Given the description of an element on the screen output the (x, y) to click on. 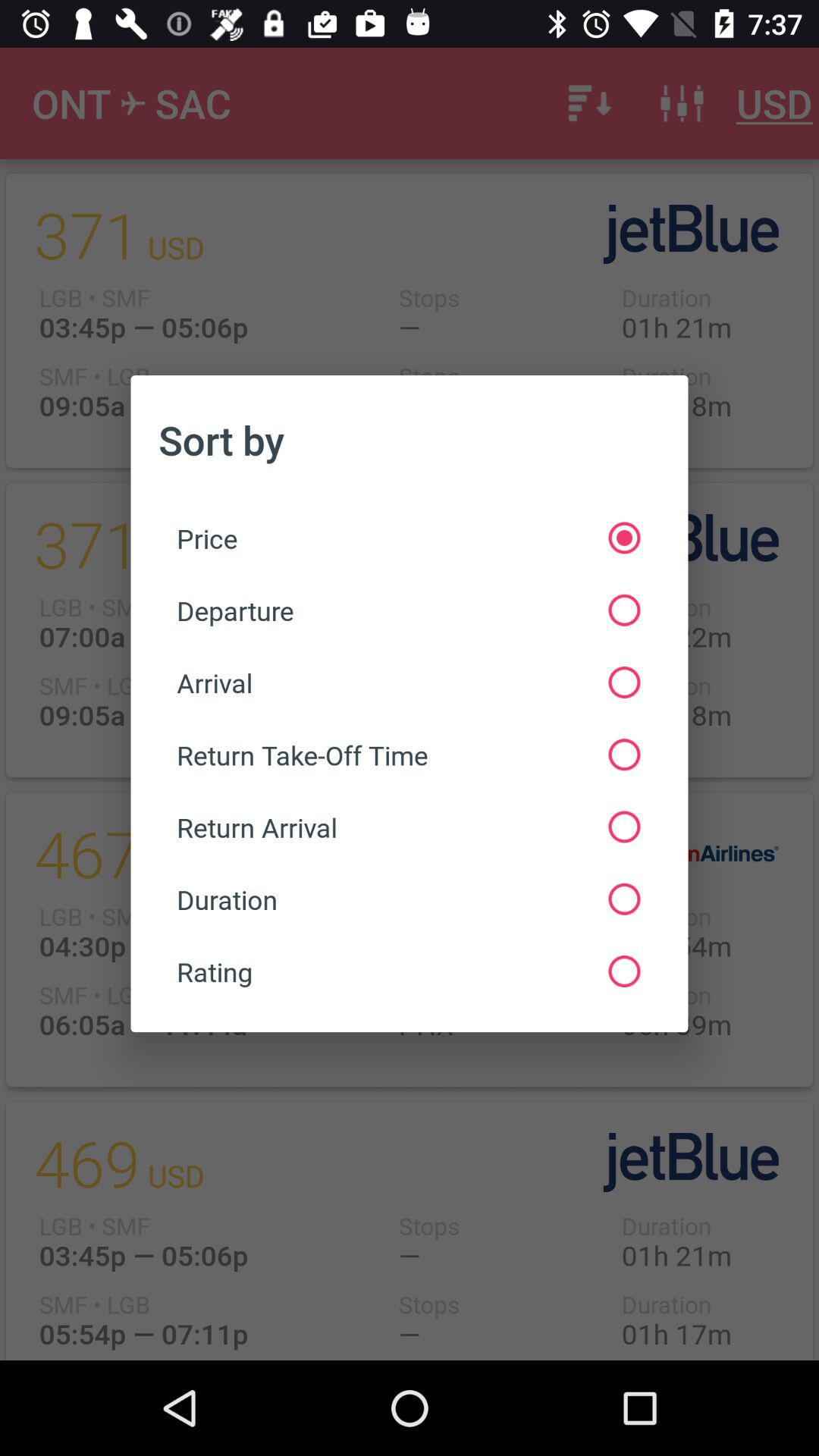
press the icon below the price icon (408, 610)
